Given the description of an element on the screen output the (x, y) to click on. 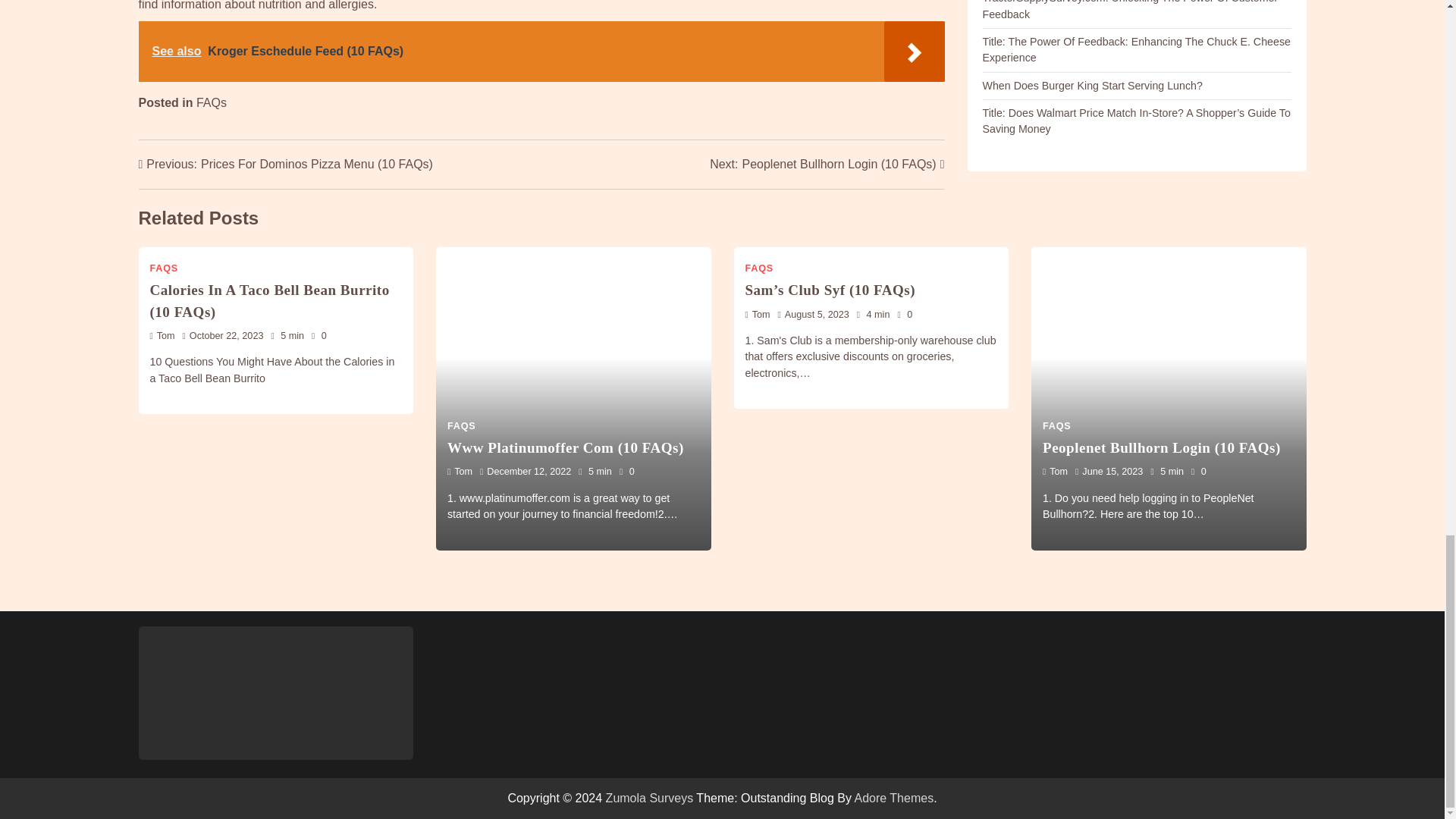
FAQs (211, 102)
